Given the description of an element on the screen output the (x, y) to click on. 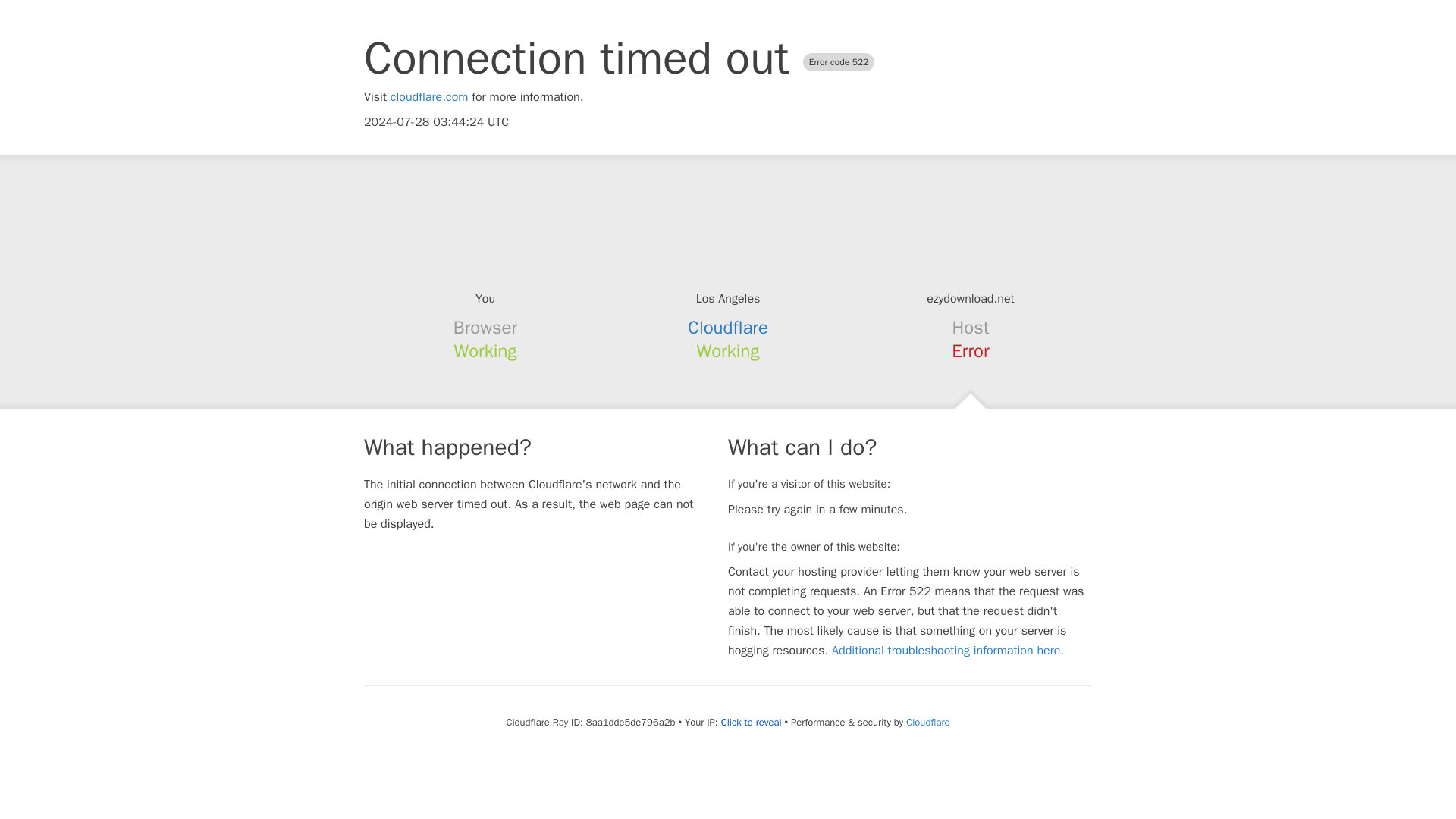
Cloudflare (927, 721)
cloudflare.com (429, 96)
Additional troubleshooting information here. (947, 650)
Click to reveal (750, 722)
Cloudflare (727, 327)
